Given the description of an element on the screen output the (x, y) to click on. 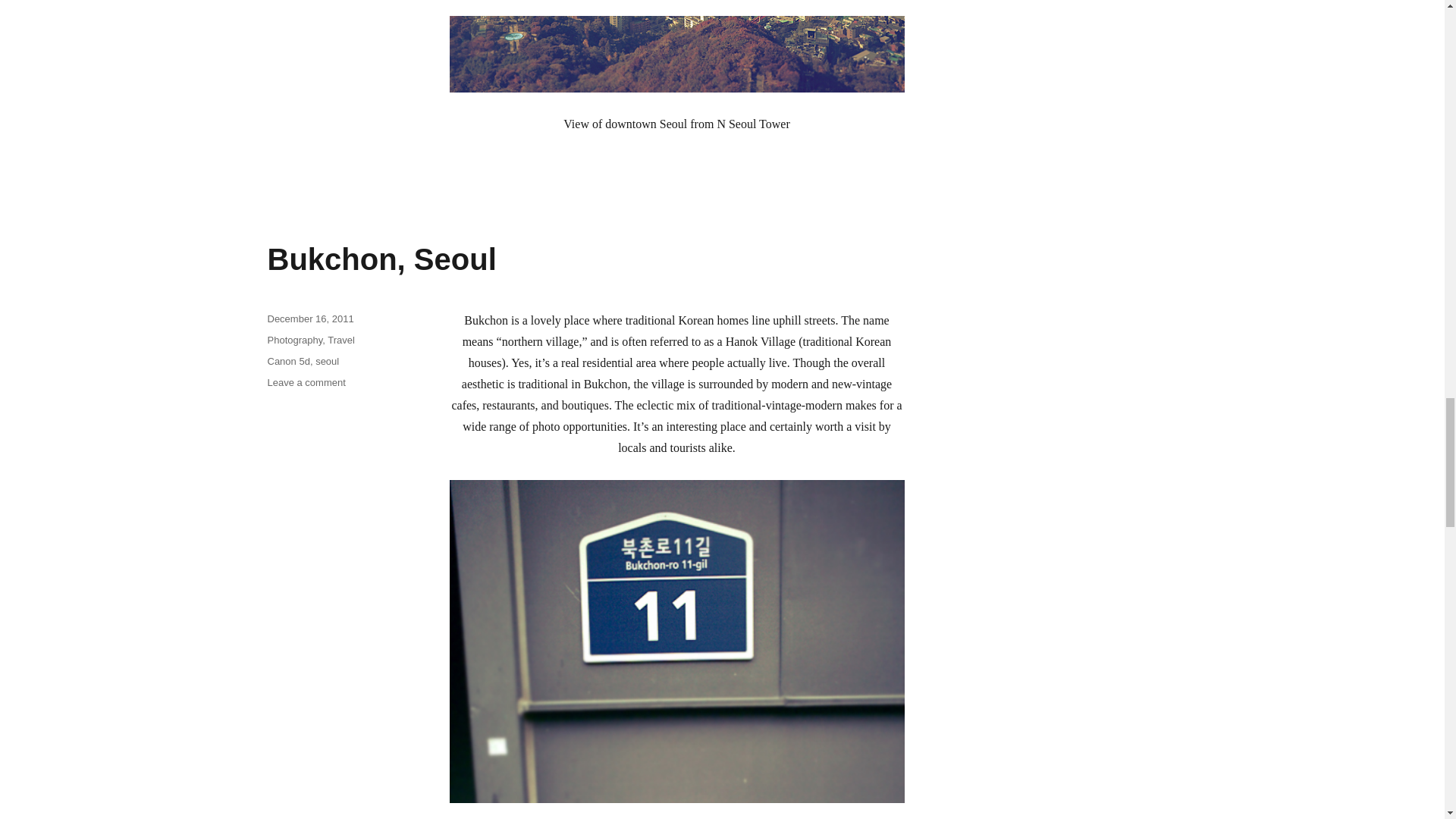
Bukchon, Seoul (381, 259)
Photography (293, 339)
Canon 5d (287, 360)
December 16, 2011 (309, 318)
seoul (327, 360)
Travel (305, 382)
